Given the description of an element on the screen output the (x, y) to click on. 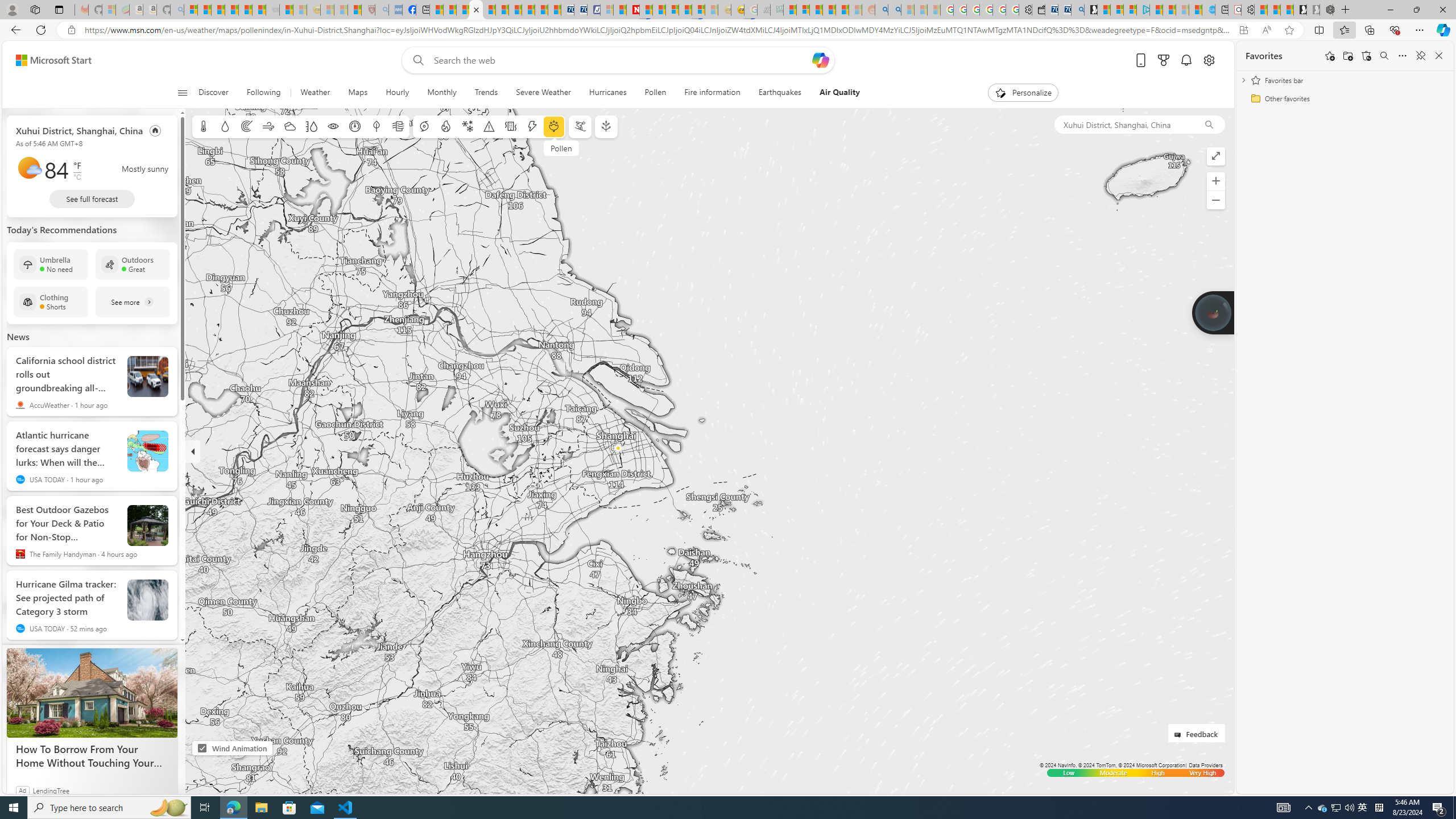
Fire information (712, 92)
Clouds (289, 126)
The Family Handyman (20, 553)
Lightning (532, 126)
Outdoors Great (133, 264)
